Given the description of an element on the screen output the (x, y) to click on. 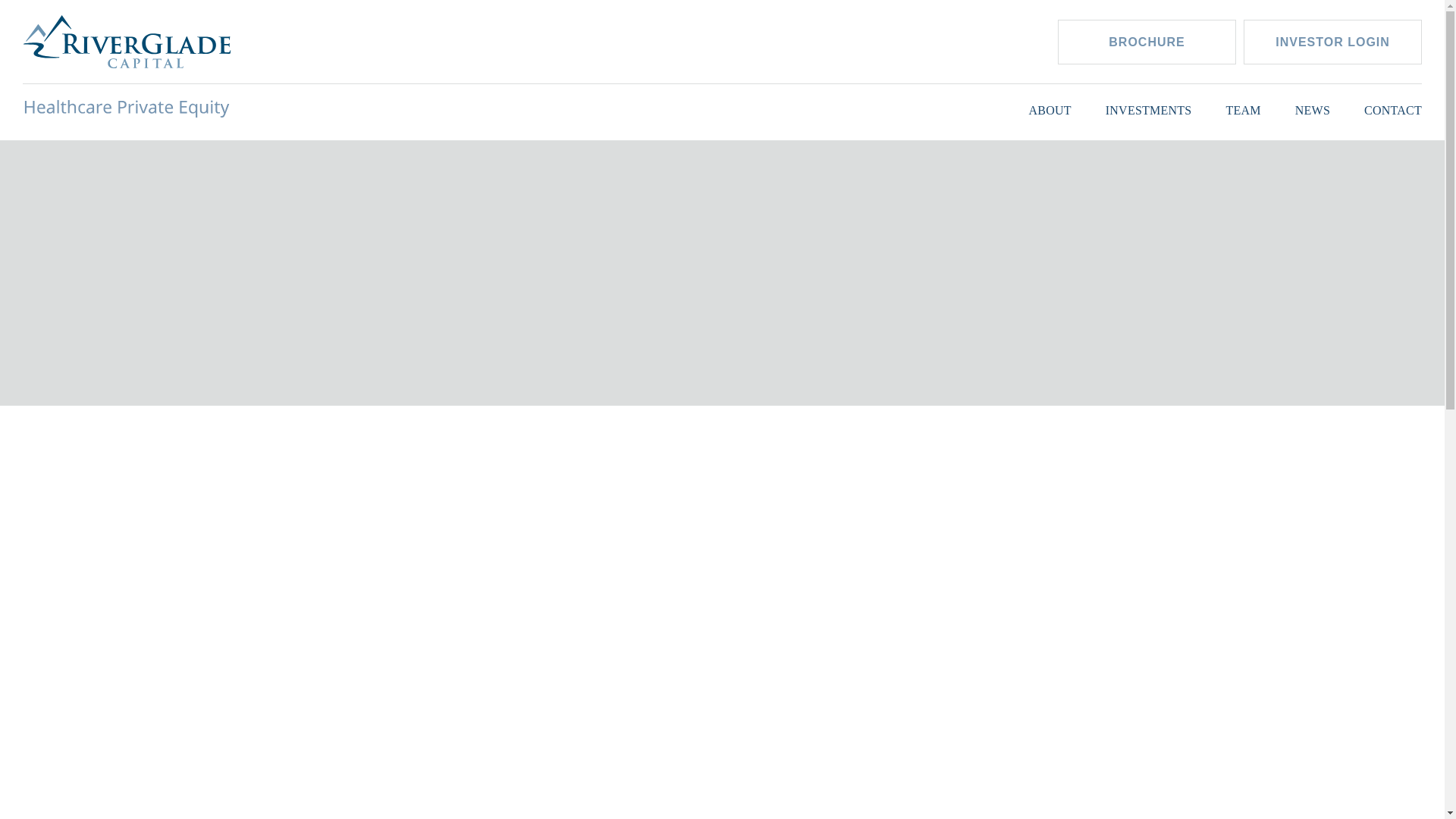
INVESTOR LOGIN (1332, 41)
BROCHURE (1147, 41)
healthcare private equity text (127, 107)
INVESTMENTS (1148, 108)
CONTACT (1393, 108)
